Given the description of an element on the screen output the (x, y) to click on. 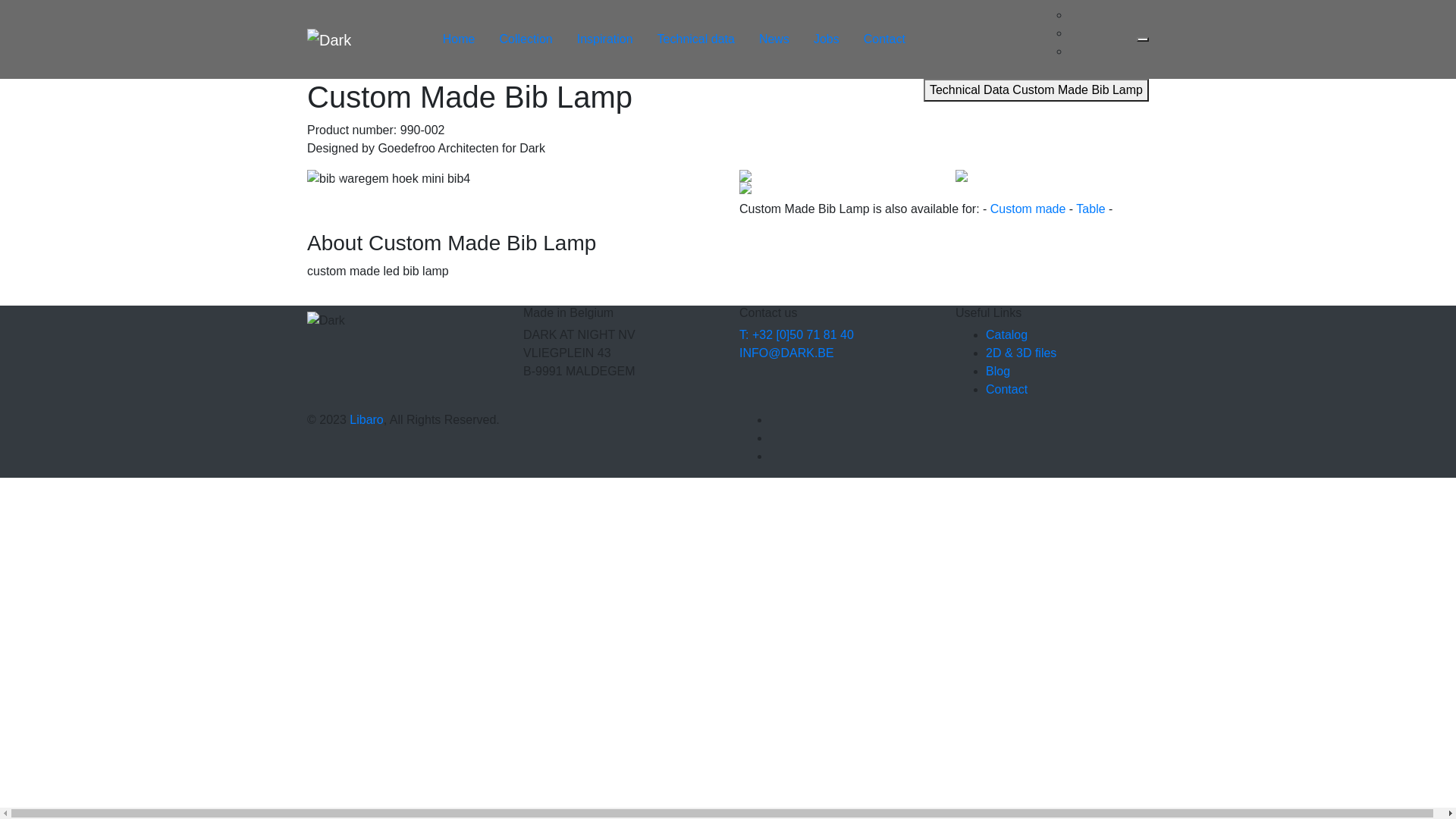
Home Element type: text (458, 39)
Next Element type: text (685, 178)
Technical Data Custom Made Bib Lamp Element type: text (1035, 89)
Contact Element type: text (1006, 388)
2D & 3D files Element type: text (1020, 352)
Table Element type: text (1090, 208)
Catalog Element type: text (1006, 334)
Collection Element type: text (525, 39)
Previous Element type: text (337, 178)
Technical data Element type: text (695, 39)
Libaro Element type: text (365, 419)
Jobs Element type: text (826, 39)
T: +32 [0]50 71 81 40 Element type: text (796, 334)
News Element type: text (773, 39)
Custom made Element type: text (1028, 208)
Inspiration Element type: text (604, 39)
Blog Element type: text (997, 370)
INFO@DARK.BE Element type: text (786, 352)
Contact Element type: text (884, 39)
